Given the description of an element on the screen output the (x, y) to click on. 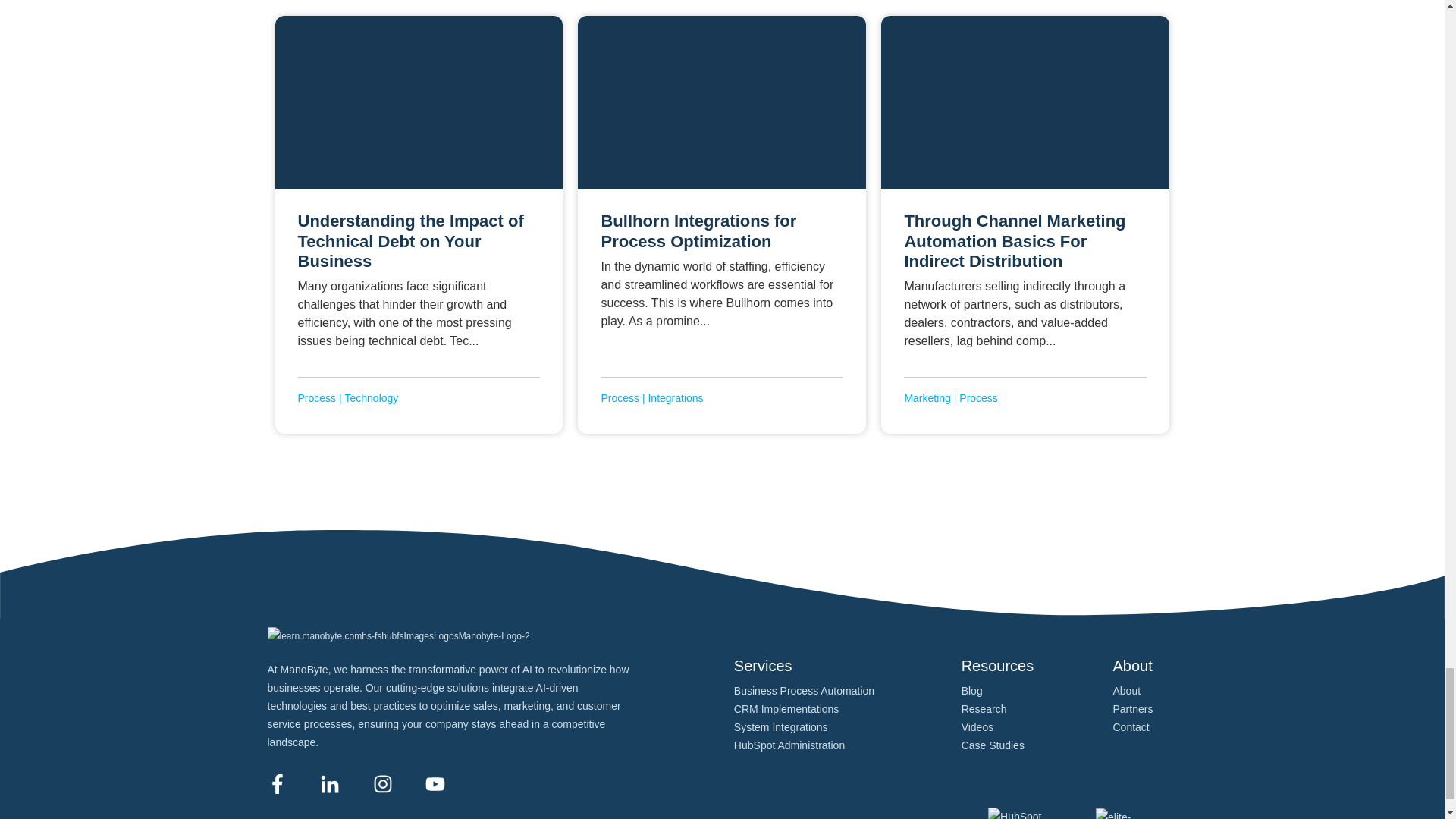
Follow us on Youtube (435, 783)
Follow us on Facebook (276, 783)
learn.manobyte.comhs-fshubfsImagesLogosManobyte-Logo-2 (397, 636)
Follow us on Instagram (382, 783)
Follow us on LinkedIn (329, 783)
